Given the description of an element on the screen output the (x, y) to click on. 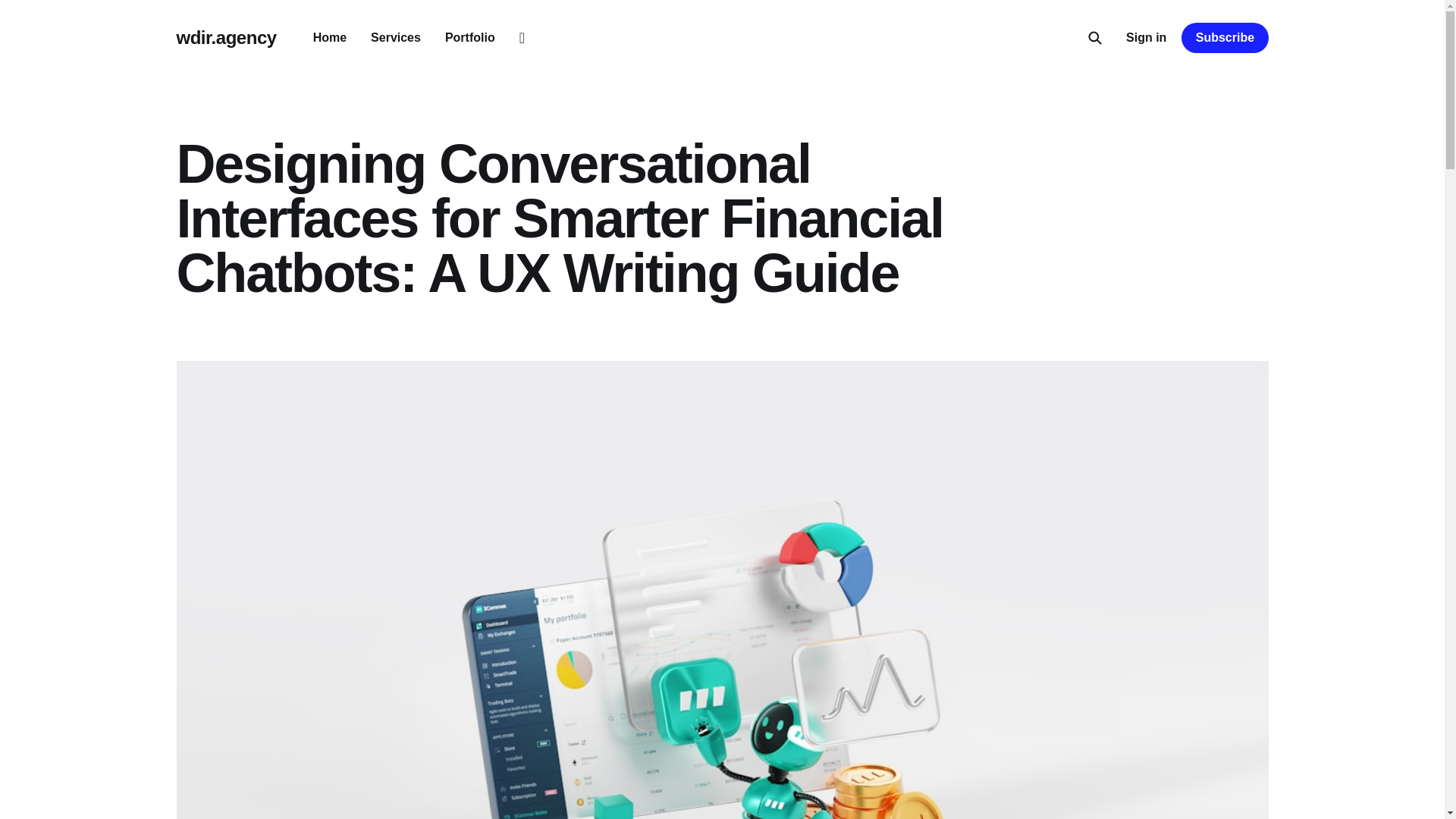
wdir.agency (226, 37)
Portfolio (470, 37)
Home (329, 37)
Sign in (1145, 37)
Services (395, 37)
Subscribe (1224, 37)
